Given the description of an element on the screen output the (x, y) to click on. 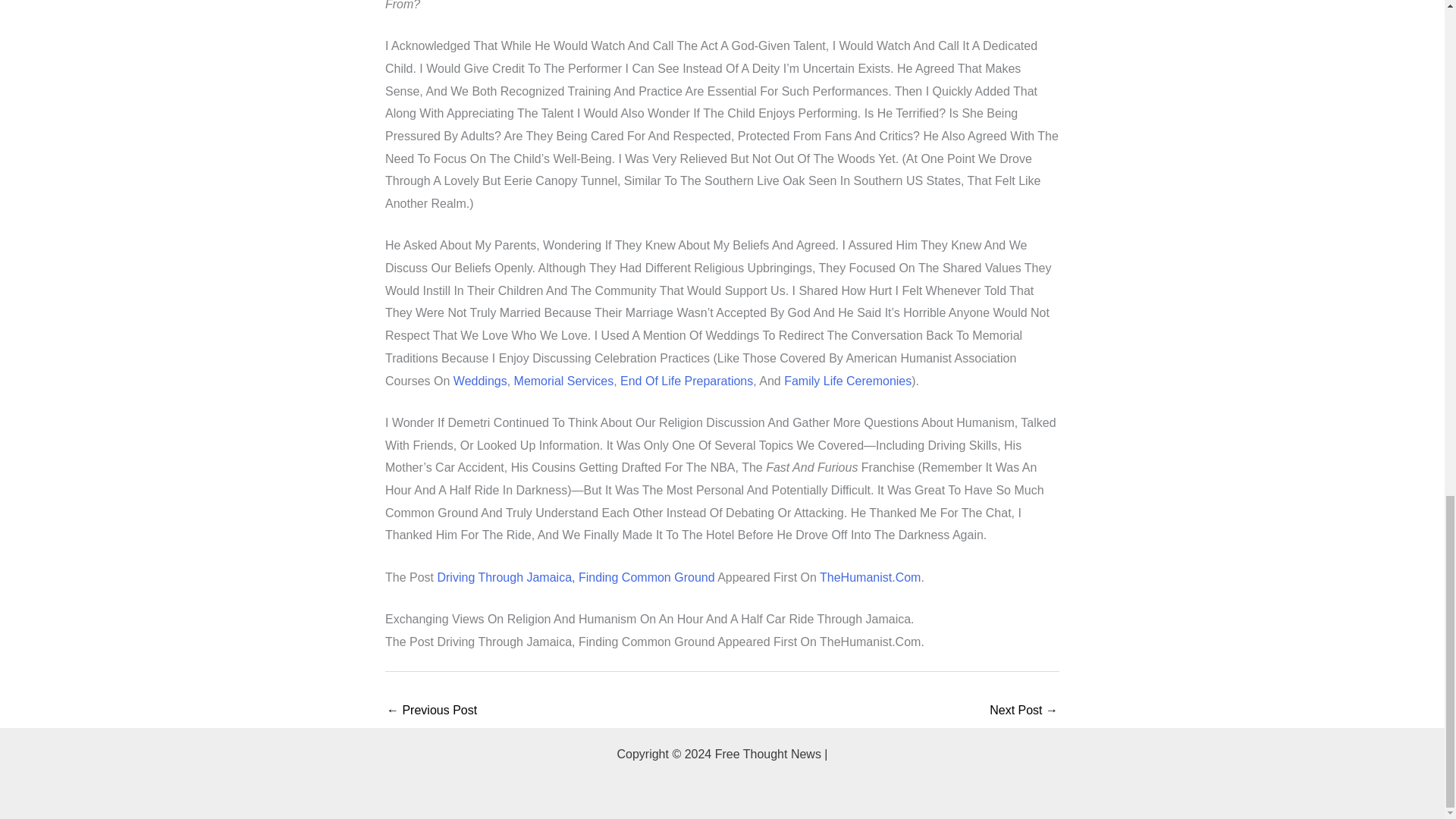
End Of Life Preparations (686, 380)
TheHumanist.Com (869, 576)
Memorial Services (563, 380)
Driving Through Jamaica, Finding Common Ground (575, 576)
Family Life Ceremonies (847, 380)
Weddings (479, 380)
